Given the description of an element on the screen output the (x, y) to click on. 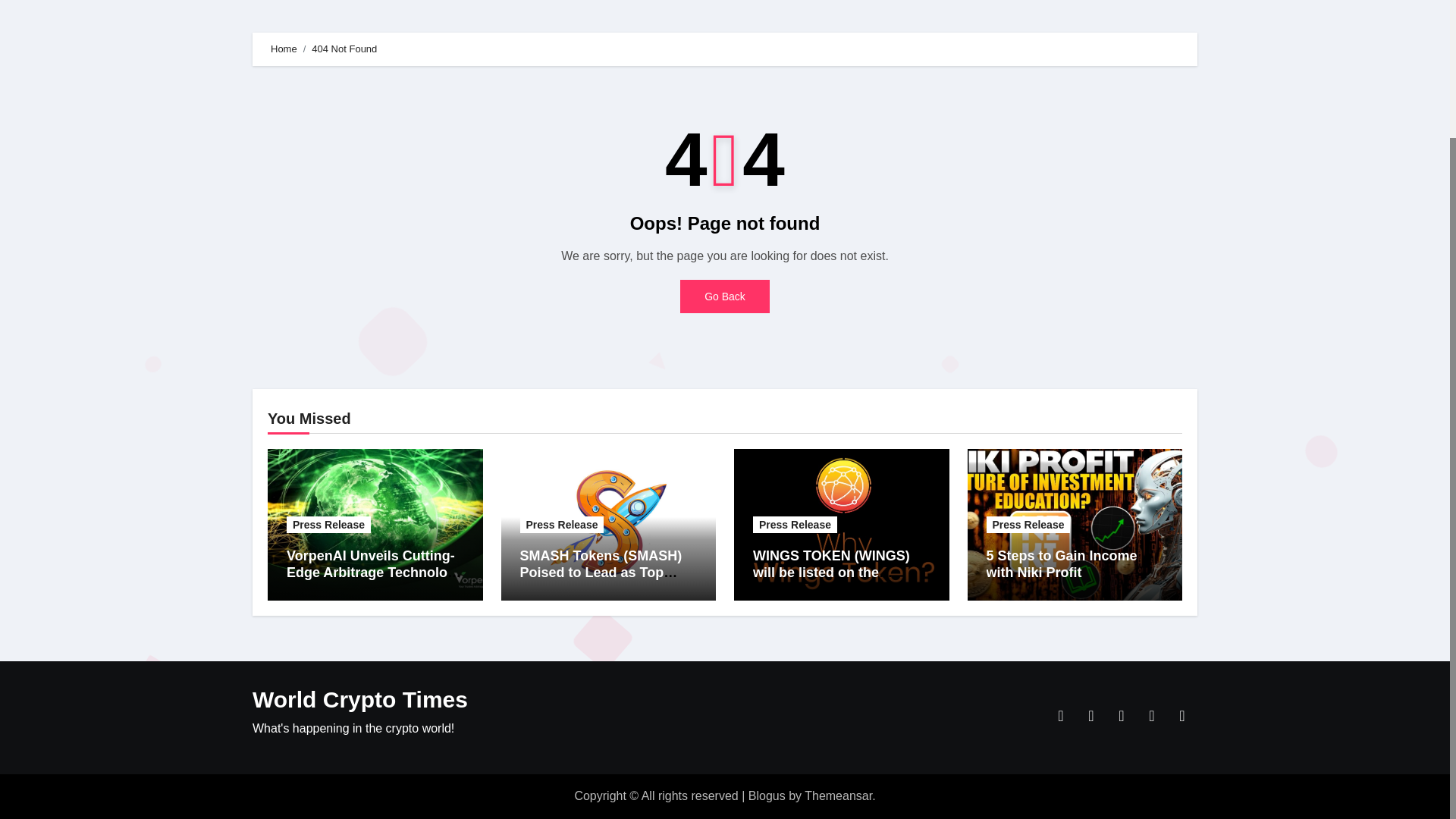
Home (283, 48)
Press Release (328, 524)
5 Steps to Gain Income with Niki Profit (1061, 563)
Press Release (794, 524)
Themeansar (838, 795)
Go Back (724, 296)
Blogus (767, 795)
World Crypto Times (359, 699)
Permalink to: 5 Steps to Gain Income with Niki Profit (1061, 563)
Press Release (561, 524)
Press Release (1027, 524)
